Given the description of an element on the screen output the (x, y) to click on. 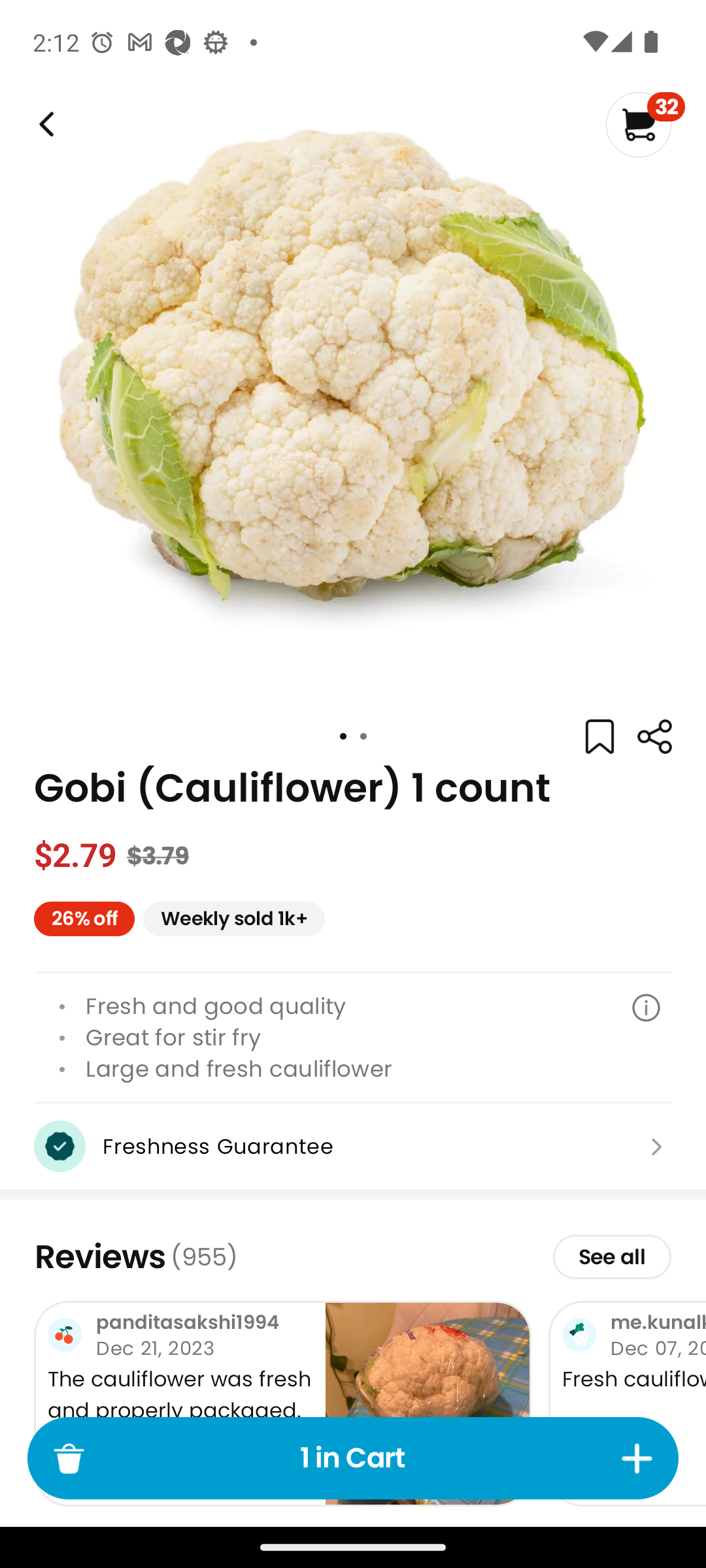
32 (644, 124)
Weee! (45, 124)
Weee! (653, 736)
Freshness Guarantee (352, 1145)
Reviews (955) See all (353, 1256)
1 in Cart (352, 1458)
